Given the description of an element on the screen output the (x, y) to click on. 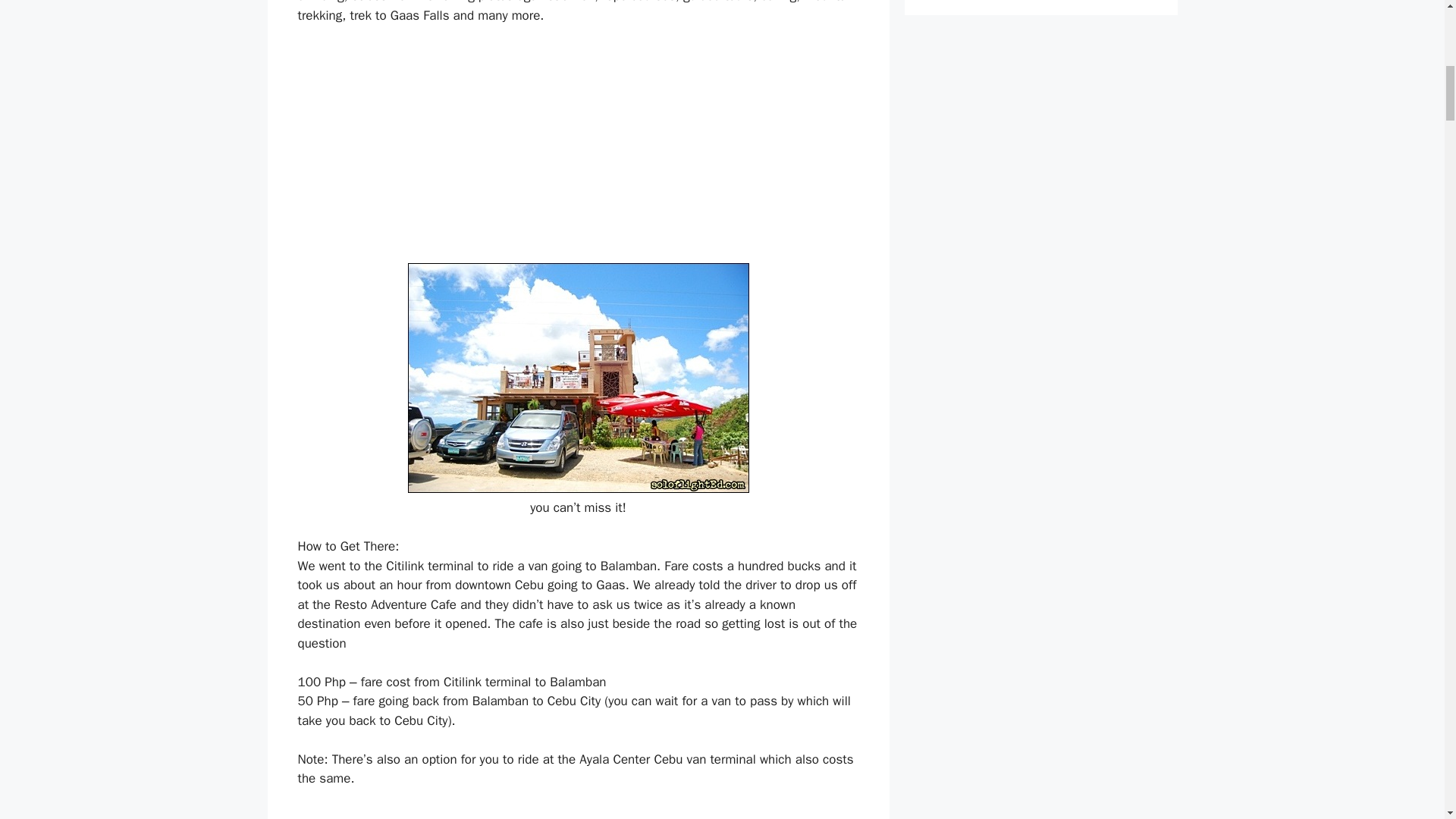
adventure cafe (578, 377)
